Given the description of an element on the screen output the (x, y) to click on. 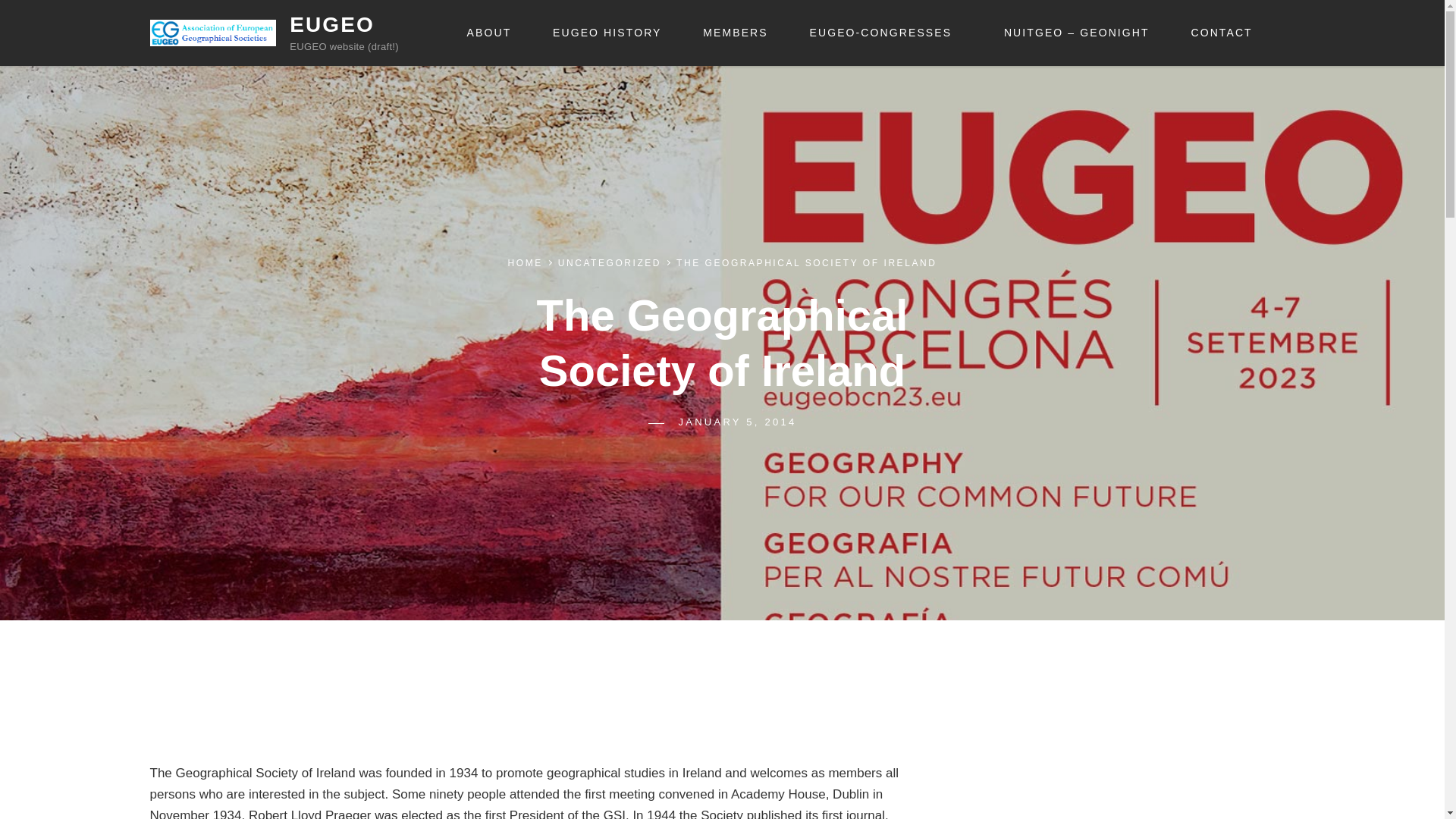
CONTACT (1221, 33)
HOME (525, 262)
UNCATEGORIZED (609, 262)
EUGEO (331, 24)
EUGEO-CONGRESSES (885, 33)
JANUARY 5, 2014 (737, 421)
ABOUT (489, 33)
EUGEO HISTORY (606, 33)
MEMBERS (735, 33)
